Given the description of an element on the screen output the (x, y) to click on. 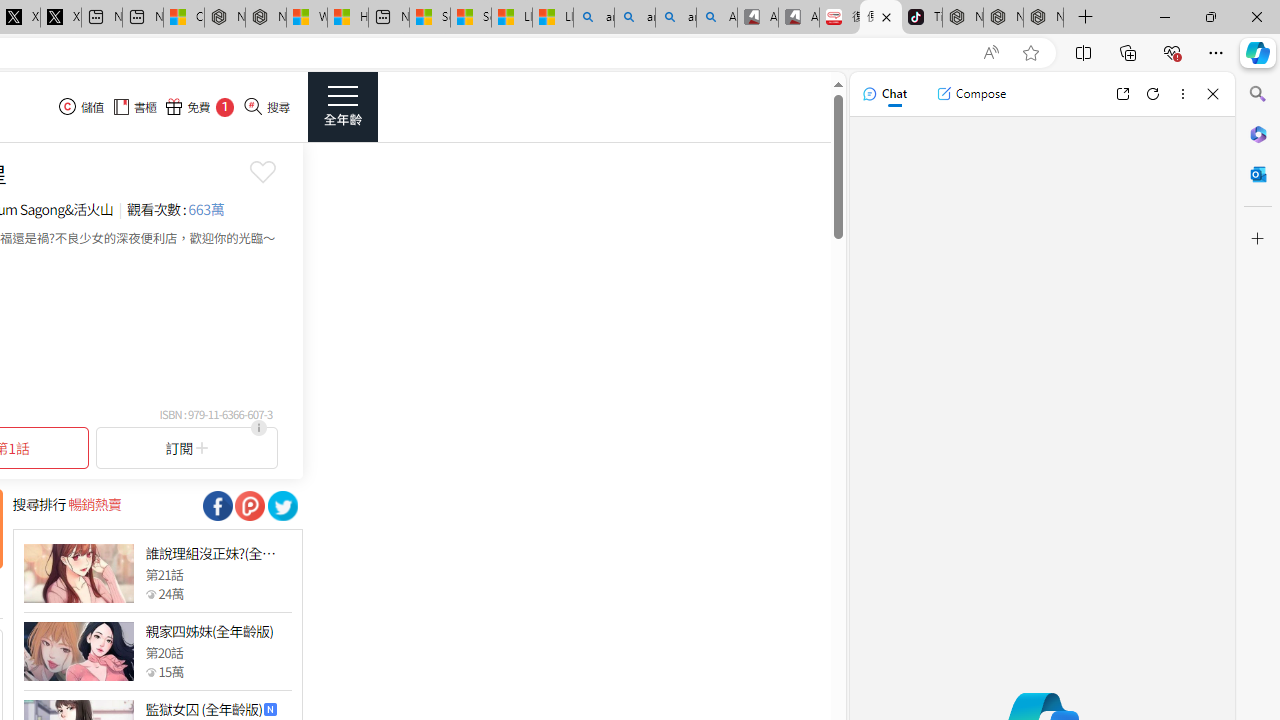
Chat (884, 93)
Amazon Echo Robot - Search Images (717, 17)
Nordace Siena Pro 15 Backpack (1003, 17)
